Given the description of an element on the screen output the (x, y) to click on. 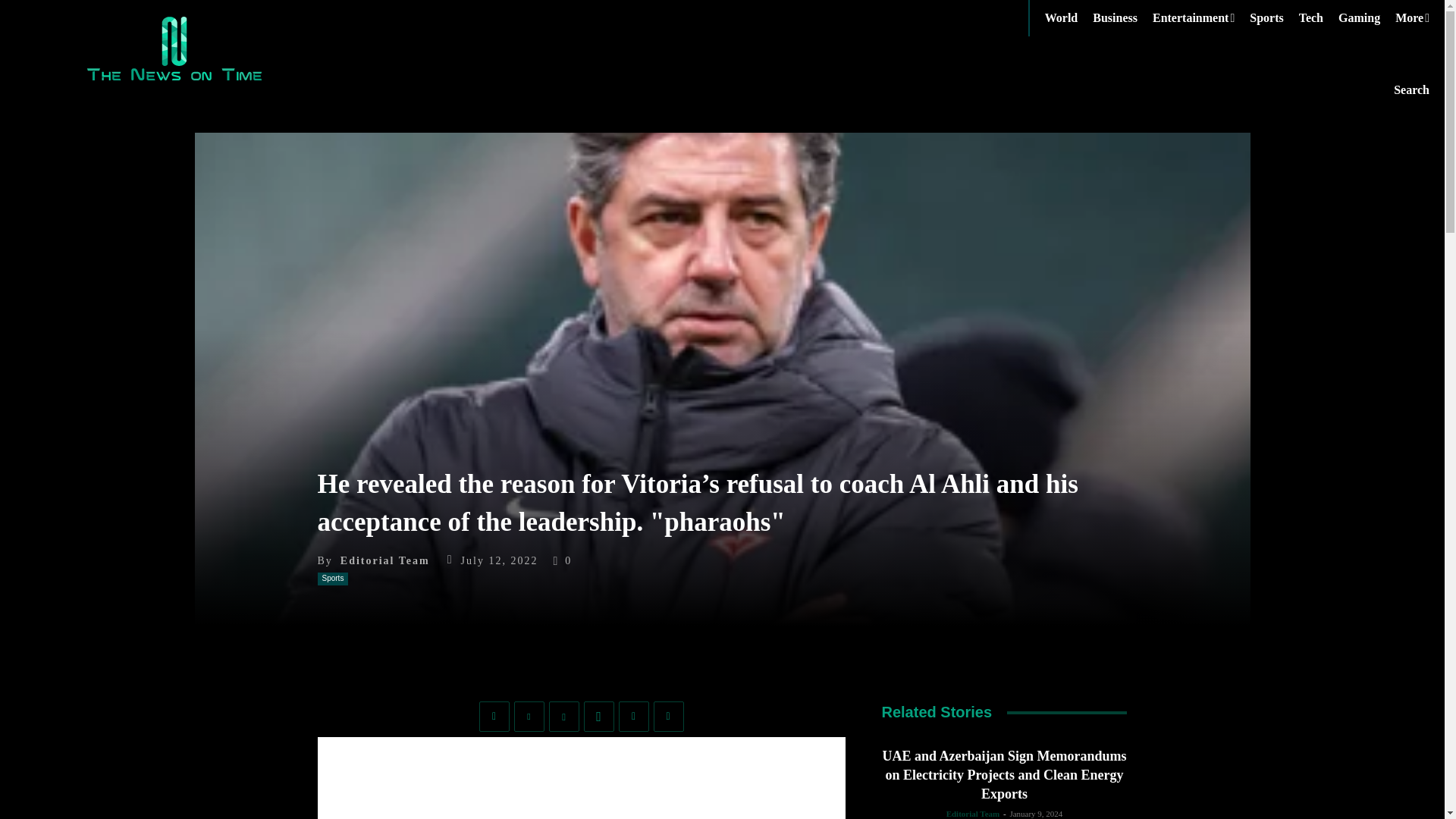
Business (1123, 18)
Entertainment (1201, 18)
TheNewsOnTime (174, 47)
World (1069, 18)
